Given the description of an element on the screen output the (x, y) to click on. 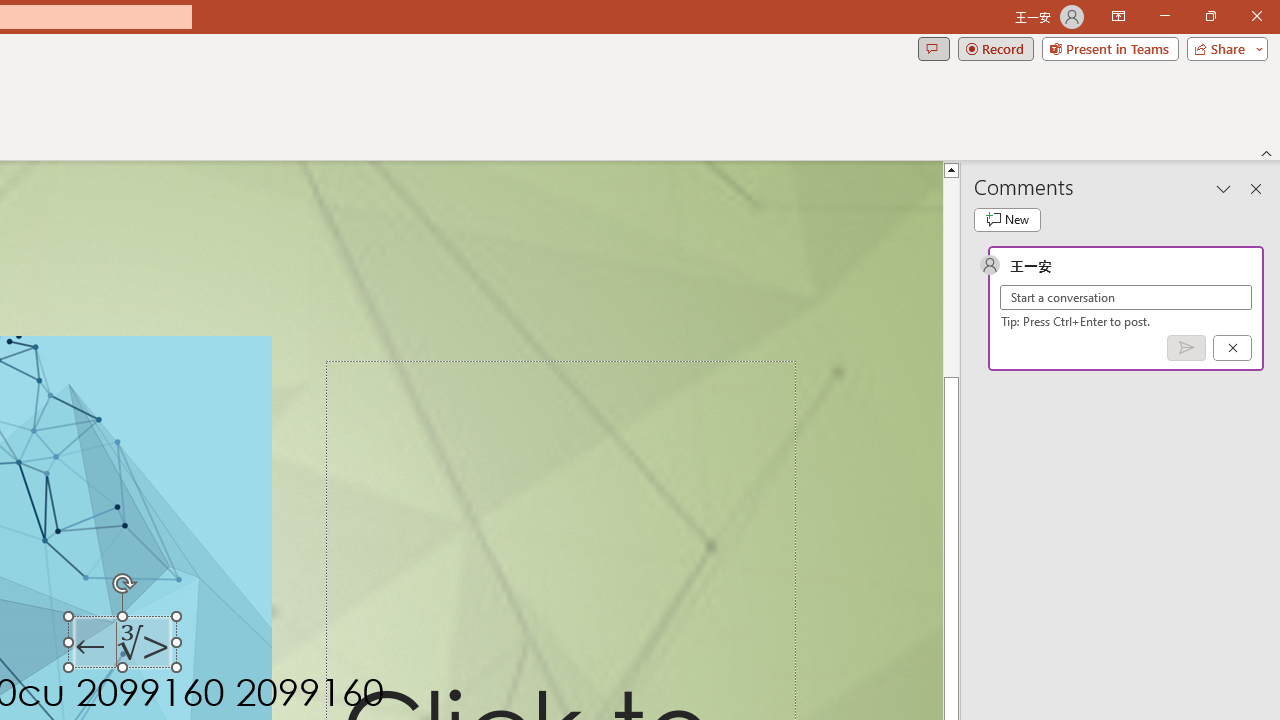
New comment (1007, 219)
Start a conversation (1126, 297)
Page up (951, 237)
